Given the description of an element on the screen output the (x, y) to click on. 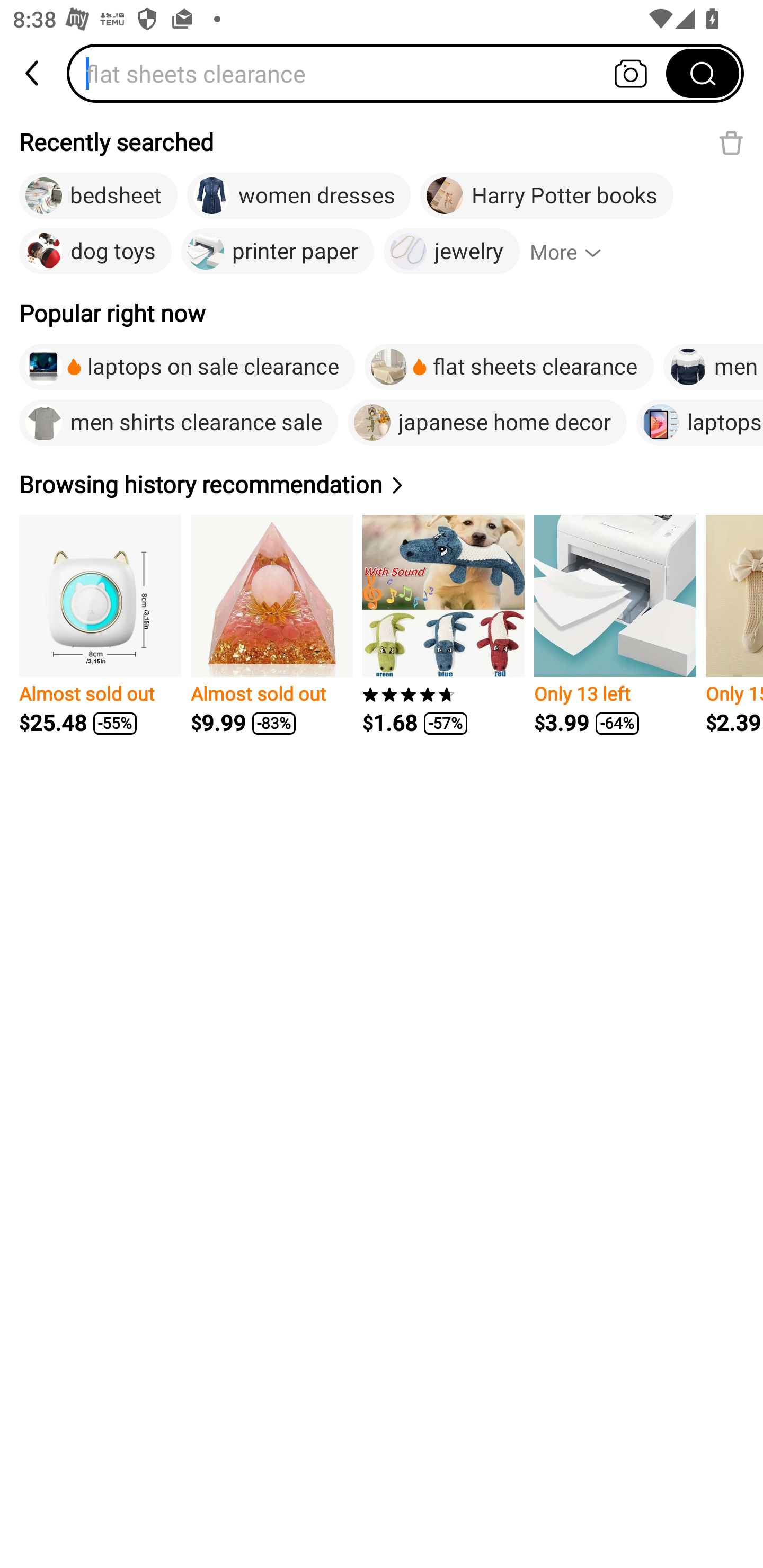
back (33, 72)
flat sheets clearance (372, 73)
Search by photo (630, 73)
Delete recent search (731, 142)
bedsheet (98, 195)
women dresses (298, 195)
Harry Potter books (546, 195)
dog toys (95, 251)
printer paper (277, 251)
jewelry (451, 251)
More (573, 251)
laptops on sale clearance (186, 366)
flat sheets clearance (508, 366)
men clothing clearance (713, 366)
men shirts clearance sale (178, 422)
japanese home decor (487, 422)
laptops computers (699, 422)
Browsing history recommendation (213, 484)
Almost sold out $25.48 -55% (100, 625)
Almost sold out $9.99 -83% (271, 625)
$1.68 -57% (443, 625)
Only 13 left $3.99 -64% (614, 625)
